Given the description of an element on the screen output the (x, y) to click on. 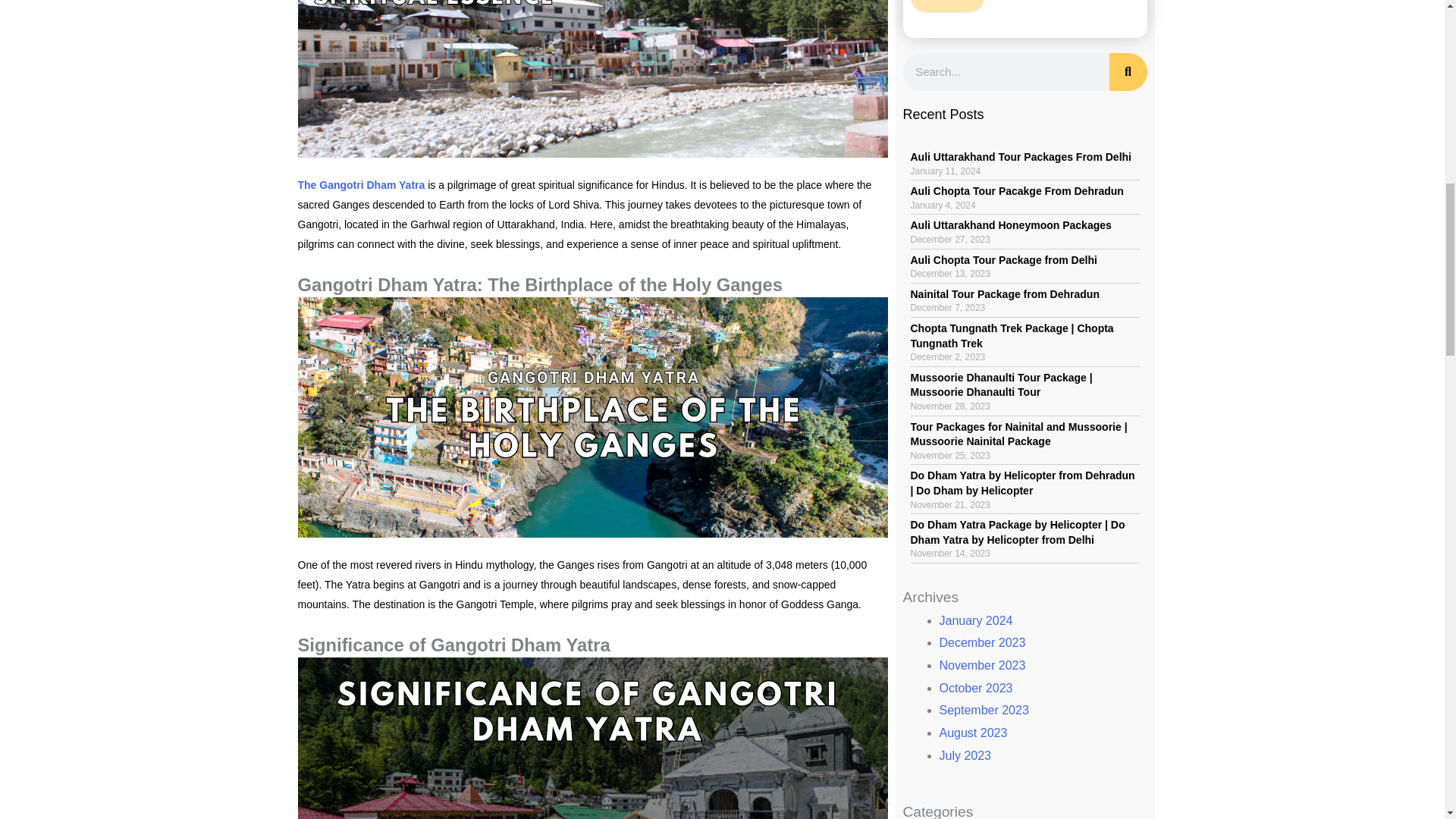
Auli Chopta Tour Pacakge From Dehradun (1016, 191)
Auli Uttarakhand Honeymoon Packages (1010, 224)
Search (1127, 71)
Auli Chopta Tour Package from Delhi (1003, 259)
Nainital Tour Package from Dehradun (1004, 294)
SUBMIT (947, 6)
The Gangotri Dham Yatra (361, 184)
Auli Uttarakhand Tour Packages From Delhi (1020, 156)
